Given the description of an element on the screen output the (x, y) to click on. 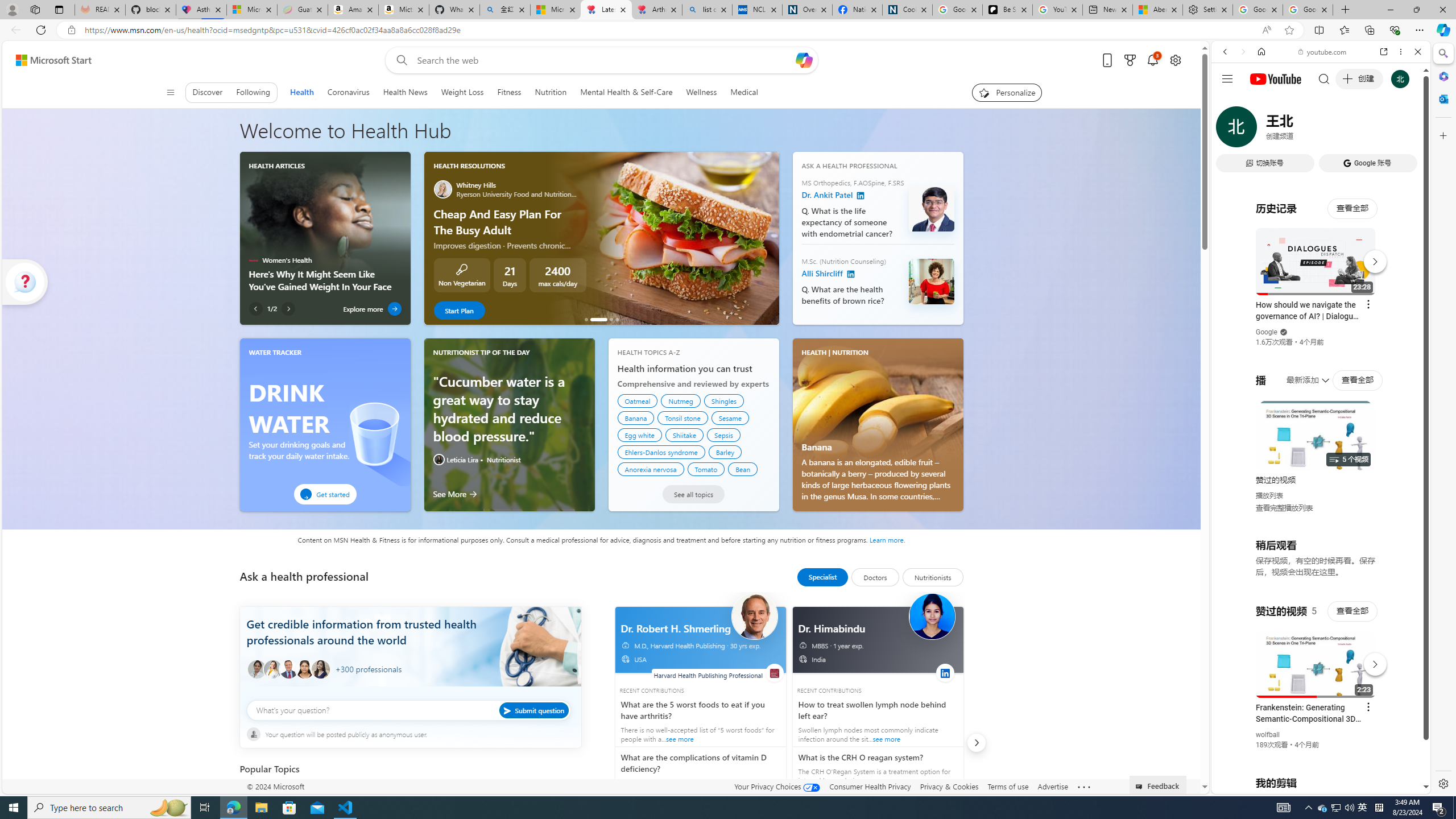
Side bar (1443, 418)
